Given the description of an element on the screen output the (x, y) to click on. 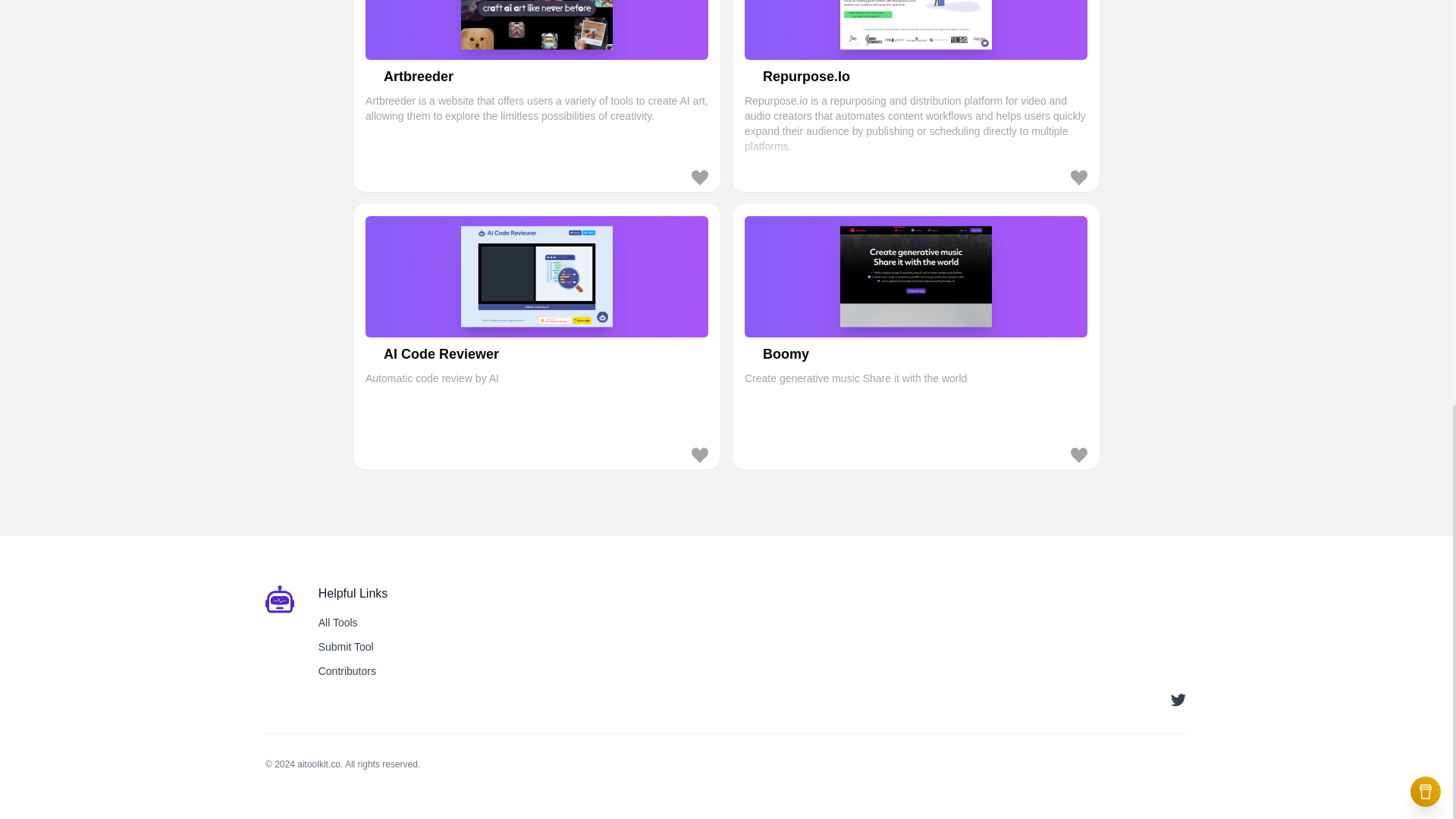
Contributors (346, 671)
Submit Tool (915, 335)
All Tools (346, 646)
Twitter (338, 622)
Buy Me a Coffee (1178, 700)
